Given the description of an element on the screen output the (x, y) to click on. 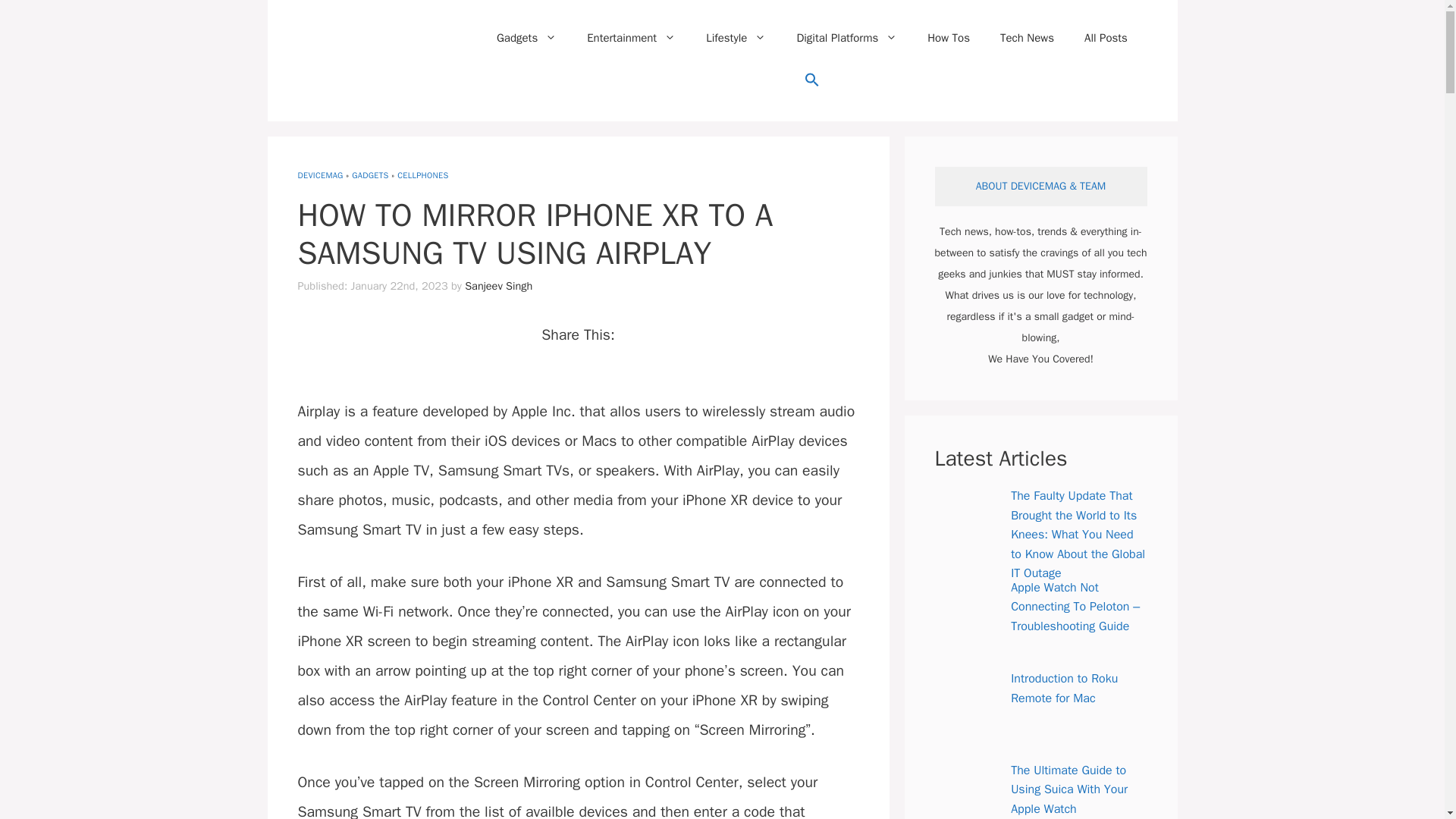
Digital Platforms (846, 37)
Gadgets (526, 37)
View all posts by Sanjeev Singh (498, 285)
Entertainment (631, 37)
Lifestyle (735, 37)
